Given the description of an element on the screen output the (x, y) to click on. 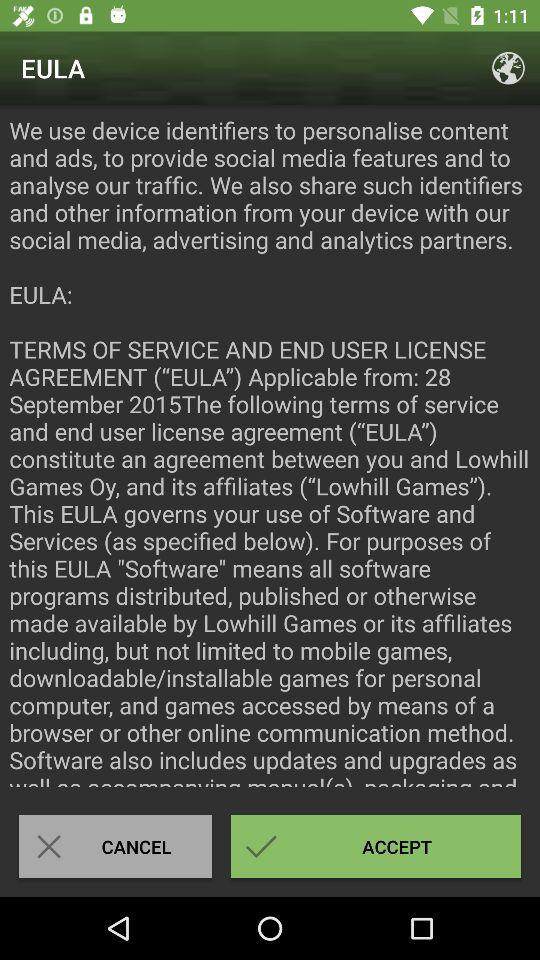
select app next to the eula (508, 67)
